Given the description of an element on the screen output the (x, y) to click on. 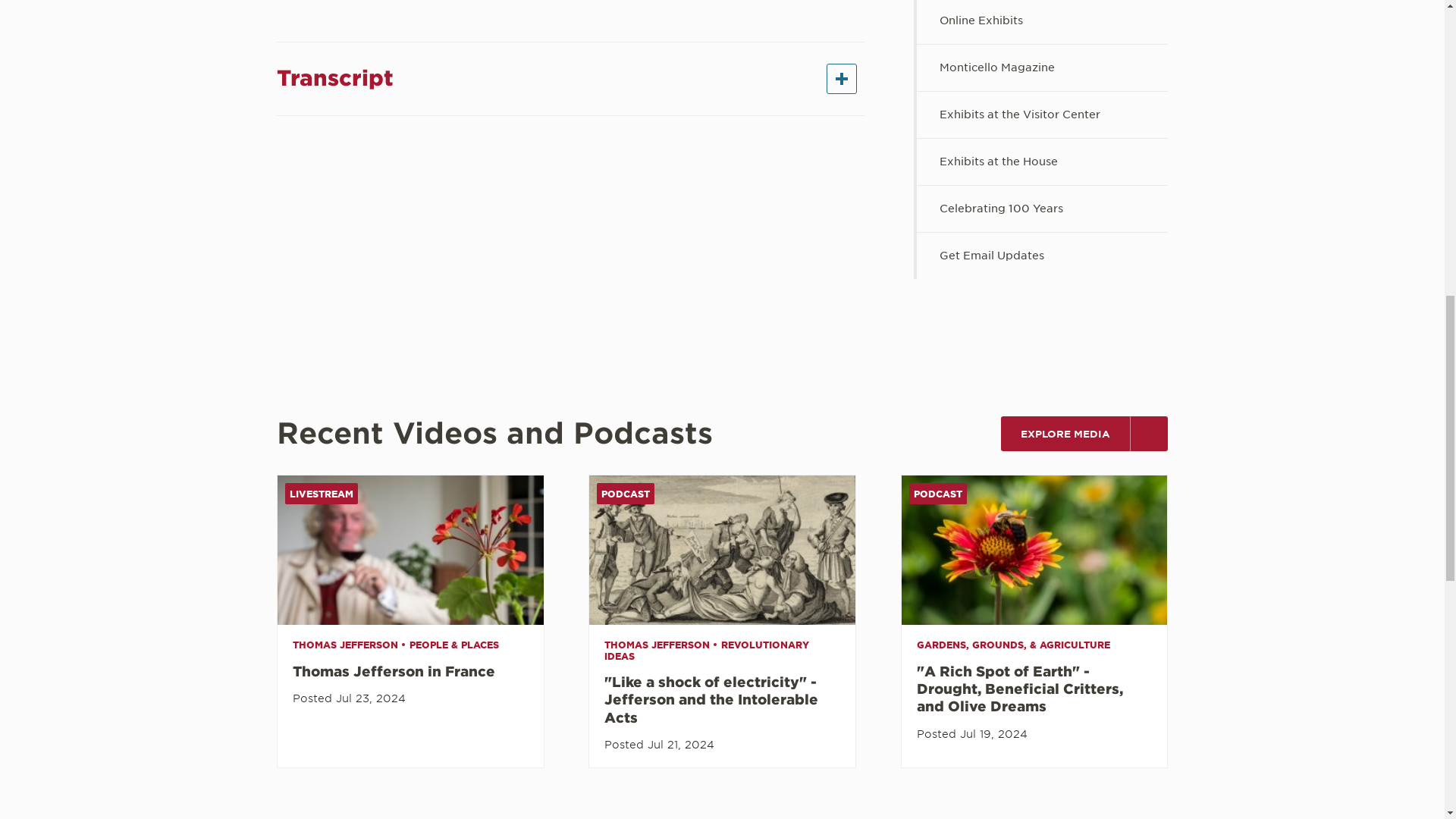
Online Exhibits (1042, 22)
Transcript (570, 78)
EXPLORE MEDIA (1084, 433)
Thomas Jefferson in France (397, 671)
Exhibits at the Visitor Center (1042, 114)
Monticello Magazine (1042, 67)
PODCAST (722, 549)
LIVESTREAM (410, 549)
Get Email Updates (1042, 255)
